Given the description of an element on the screen output the (x, y) to click on. 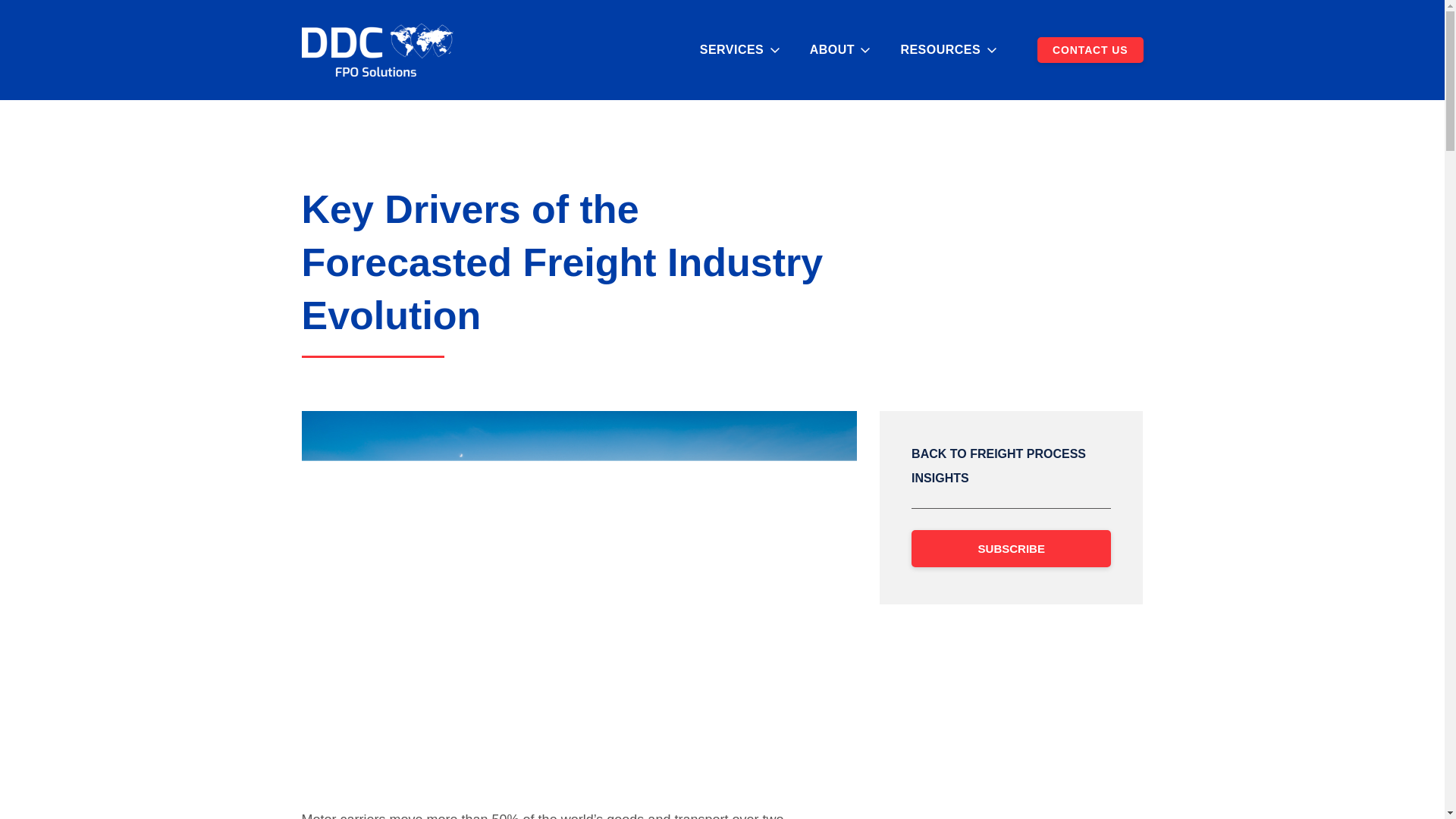
BACK TO FREIGHT PROCESS INSIGHTS (998, 465)
SERVICES (731, 49)
SUBSCRIBE (1010, 548)
CONTACT US (1089, 49)
ABOUT (831, 49)
RESOURCES (939, 49)
